Given the description of an element on the screen output the (x, y) to click on. 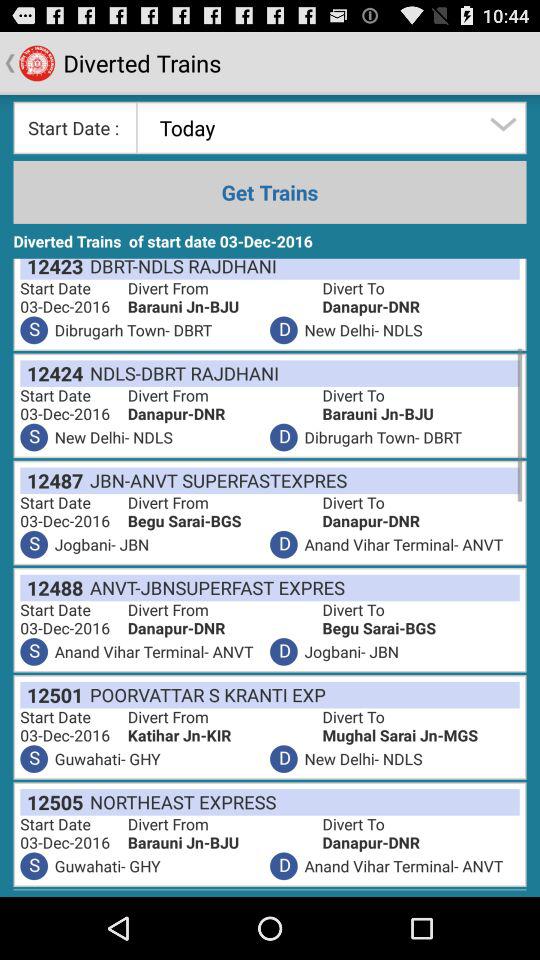
launch the app below   s item (51, 694)
